Given the description of an element on the screen output the (x, y) to click on. 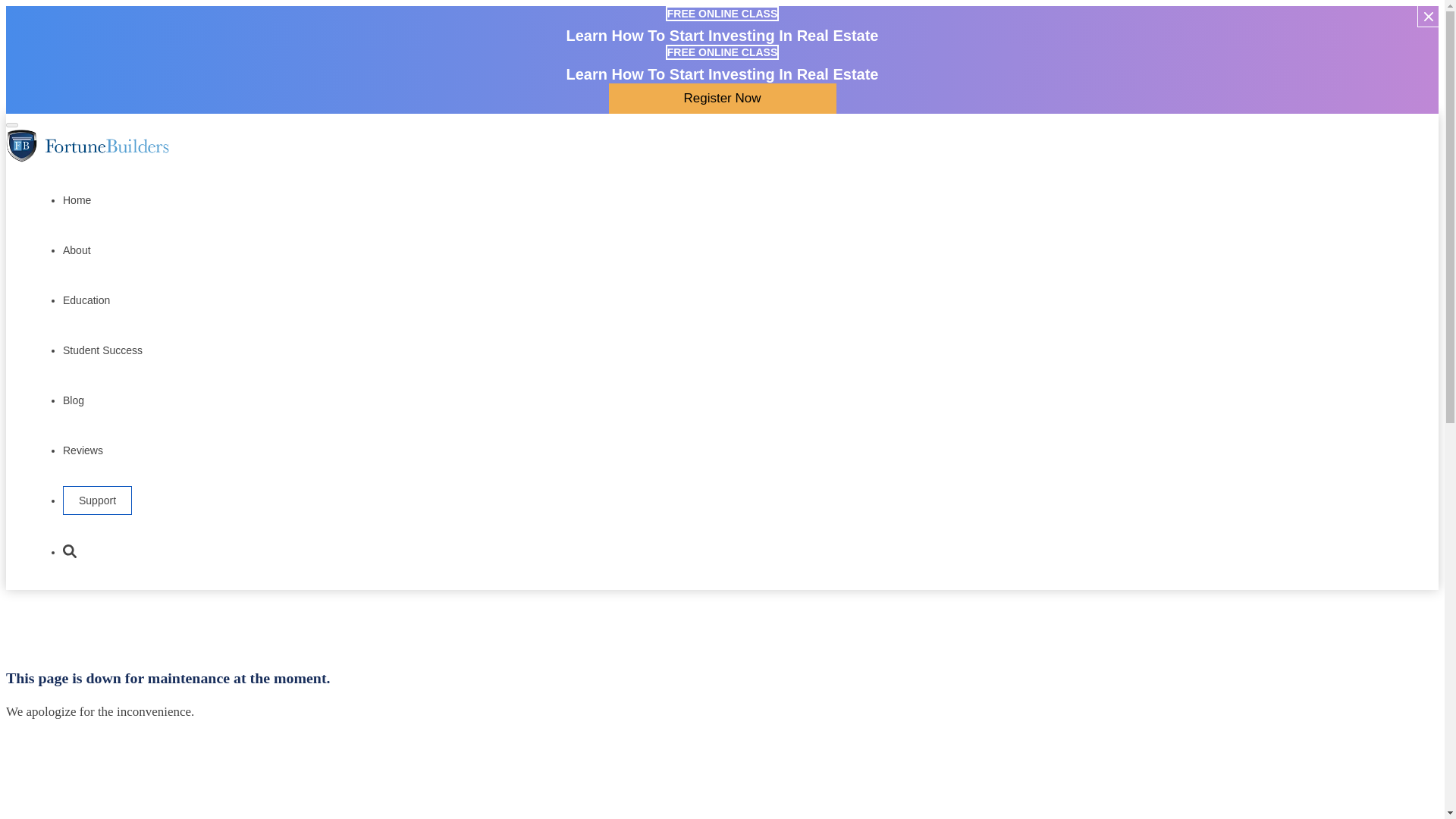
FREE ONLINE CLASS (721, 12)
Education (86, 298)
Support (97, 500)
Home (76, 197)
Reviews (82, 448)
Blog (73, 398)
About (76, 248)
FREE ONLINE CLASS (721, 51)
Student Success (102, 348)
Register Now (721, 98)
